Given the description of an element on the screen output the (x, y) to click on. 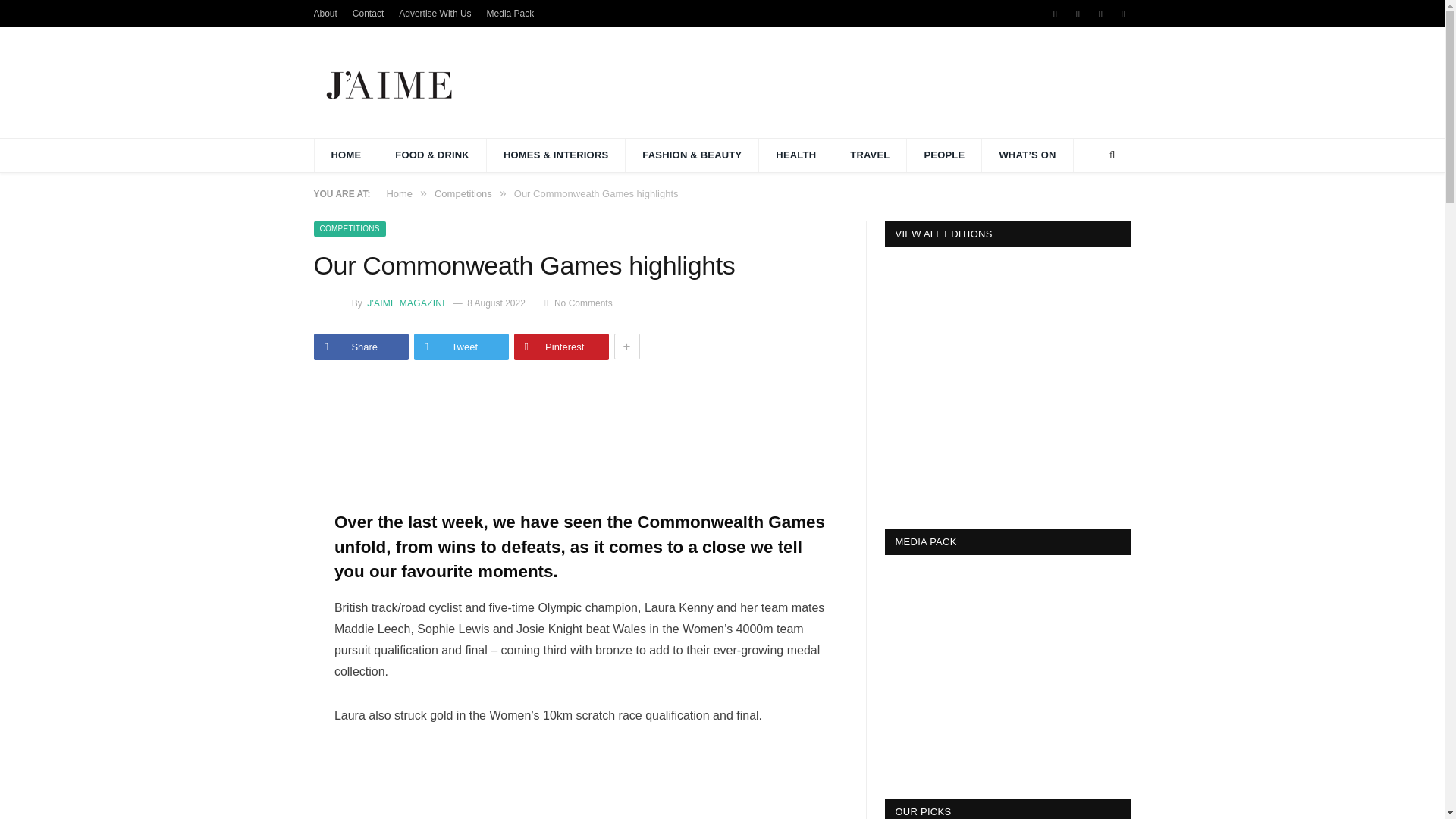
TRAVEL (869, 154)
Facebook (1055, 14)
Tweet (460, 346)
HOME (346, 154)
HEALTH (795, 154)
Pinterest (560, 346)
Facebook (1055, 14)
Search (1112, 155)
LinkedIn (1123, 14)
Media Pack (510, 13)
